Given the description of an element on the screen output the (x, y) to click on. 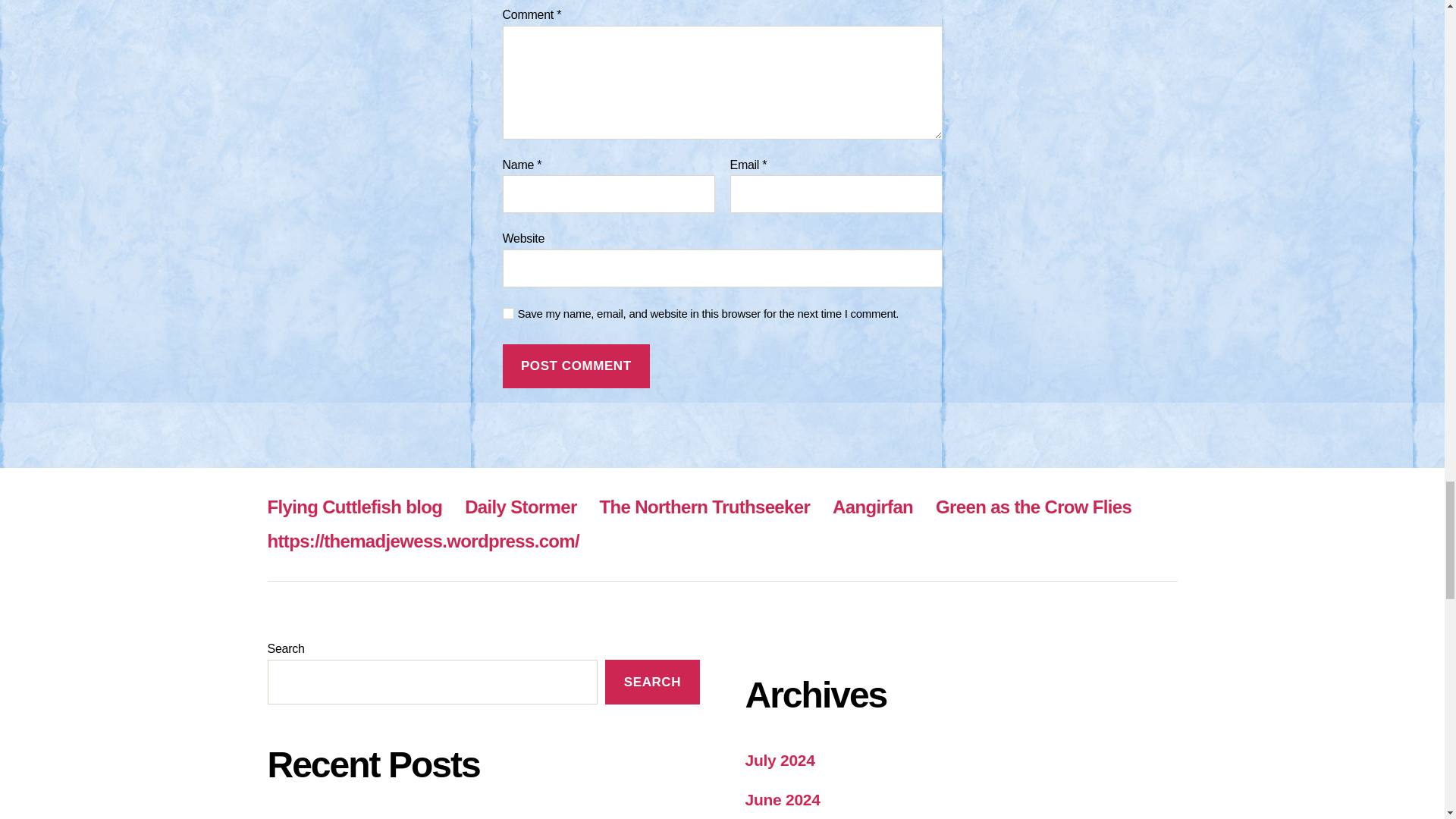
The Northern Truthseeker (704, 506)
Flying Cuttlefish blog (354, 506)
yes (507, 313)
Post Comment (575, 366)
Post Comment (575, 366)
Aangirfan (872, 506)
Green as the Crow Flies (1033, 506)
SEARCH (651, 682)
Daily Stormer (520, 506)
